Given the description of an element on the screen output the (x, y) to click on. 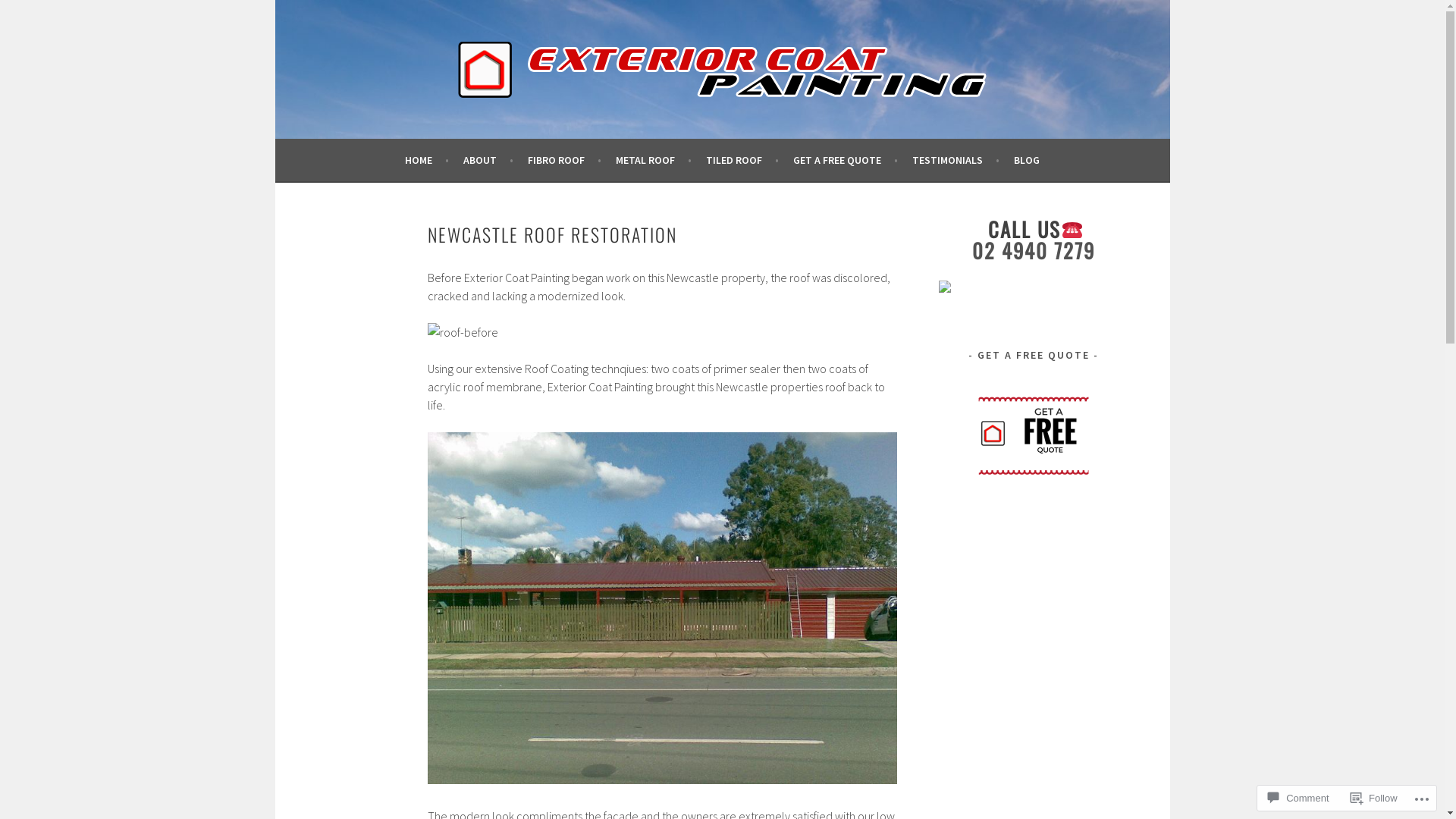
TILED ROOF Element type: text (742, 159)
HOME Element type: text (426, 159)
METAL ROOF Element type: text (653, 159)
ABOUT Element type: text (488, 159)
FIBRO ROOF Element type: text (564, 159)
TESTIMONIALS Element type: text (955, 159)
BLOG Element type: text (1026, 159)
EXTERIOR COAT PAINTING NEWCASTLE Element type: text (524, 147)
Follow Element type: text (1373, 797)
Comment Element type: text (1297, 797)
02 4940 7279 Element type: text (1033, 250)
GET A FREE QUOTE Element type: text (845, 159)
